Given the description of an element on the screen output the (x, y) to click on. 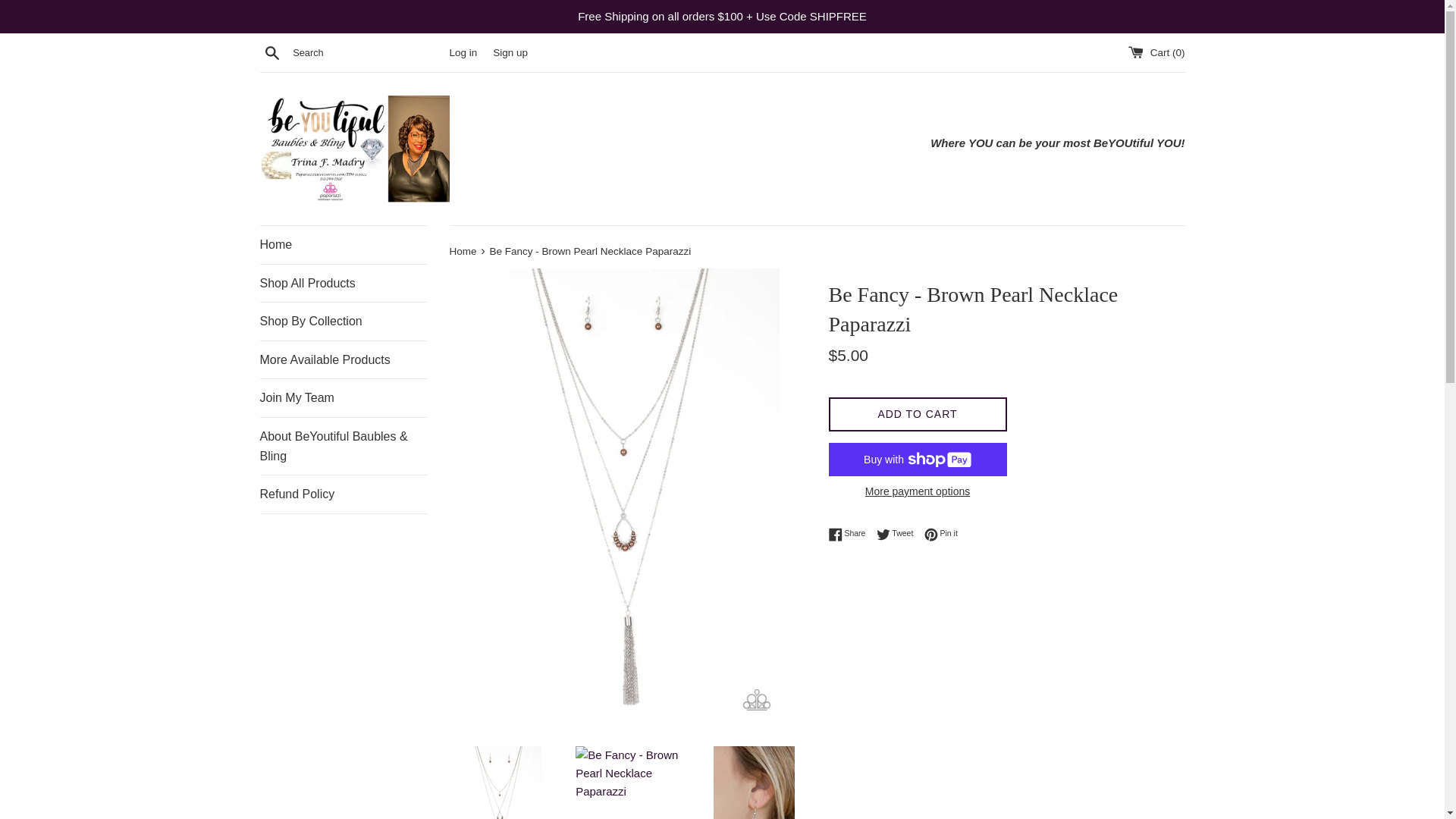
Search (271, 52)
Home (342, 244)
More Available Products (342, 360)
Home (898, 533)
Log in (941, 533)
Back to the frontpage (463, 251)
Share on Facebook (462, 52)
More payment options (463, 251)
Refund Policy (850, 533)
Shop By Collection (917, 491)
Join My Team (342, 494)
Shop All Products (342, 321)
